Given the description of an element on the screen output the (x, y) to click on. 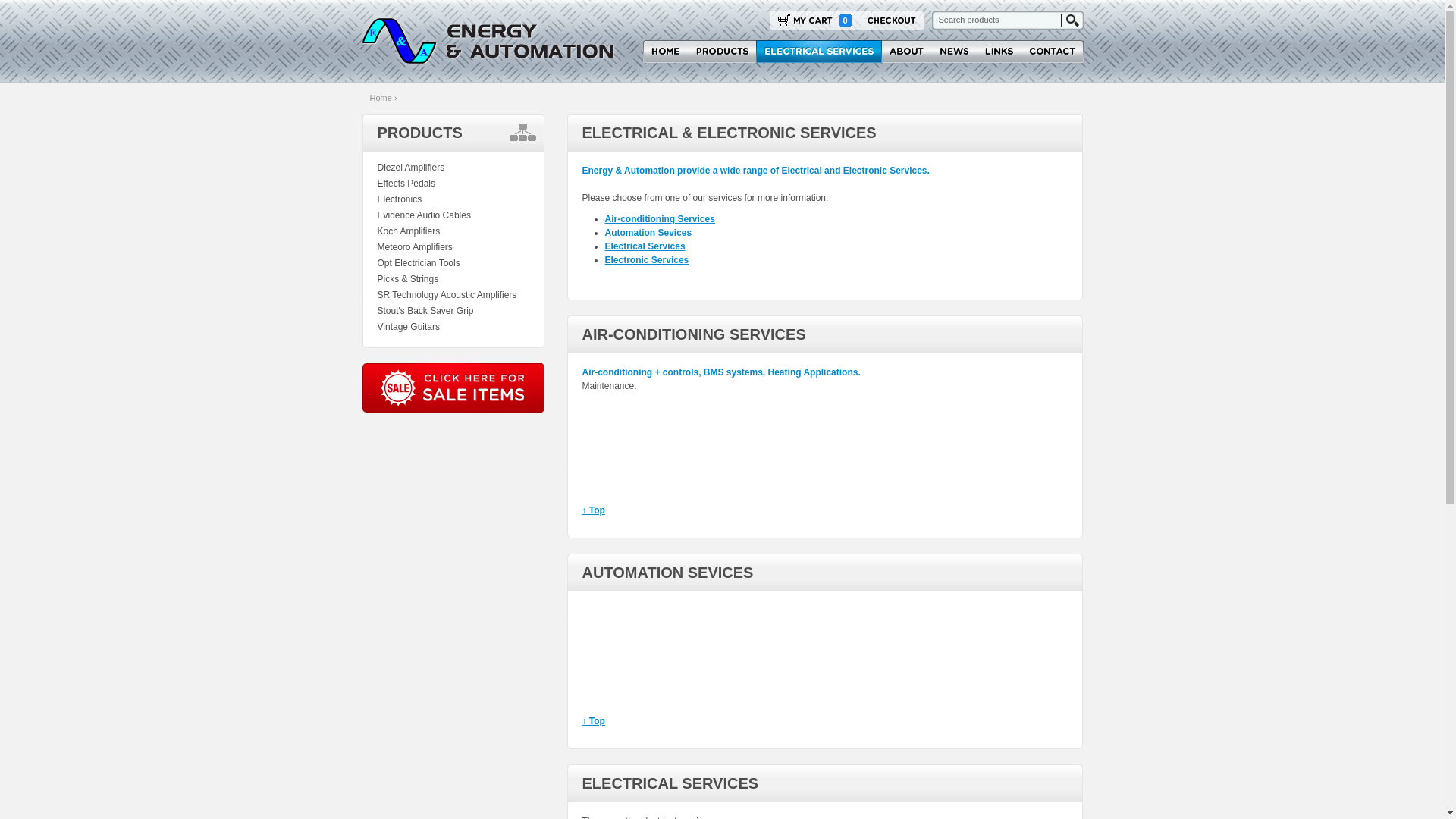
Opt Electrician Tools Element type: text (418, 263)
Home Element type: text (381, 97)
Stout's Back Saver Grip Element type: text (424, 311)
Energy & Automation Sale Items Element type: hover (453, 387)
Automation Sevices Element type: text (648, 232)
Effects Pedals Element type: text (406, 183)
Air-conditioning Services Element type: text (660, 218)
Electronic Services Element type: text (647, 259)
Diezel Amplifiers Element type: text (410, 167)
Vintage Guitars Element type: text (408, 327)
Energy & Automation Element type: hover (487, 40)
Picks & Strings Element type: text (407, 279)
SR Technology Acoustic Amplifiers Element type: text (446, 295)
Evidence Audio Cables Element type: text (423, 215)
Meteoro Amplifiers Element type: text (414, 247)
Electrical Services Element type: text (645, 246)
Electronics Element type: text (399, 199)
Koch Amplifiers Element type: text (408, 231)
